Given the description of an element on the screen output the (x, y) to click on. 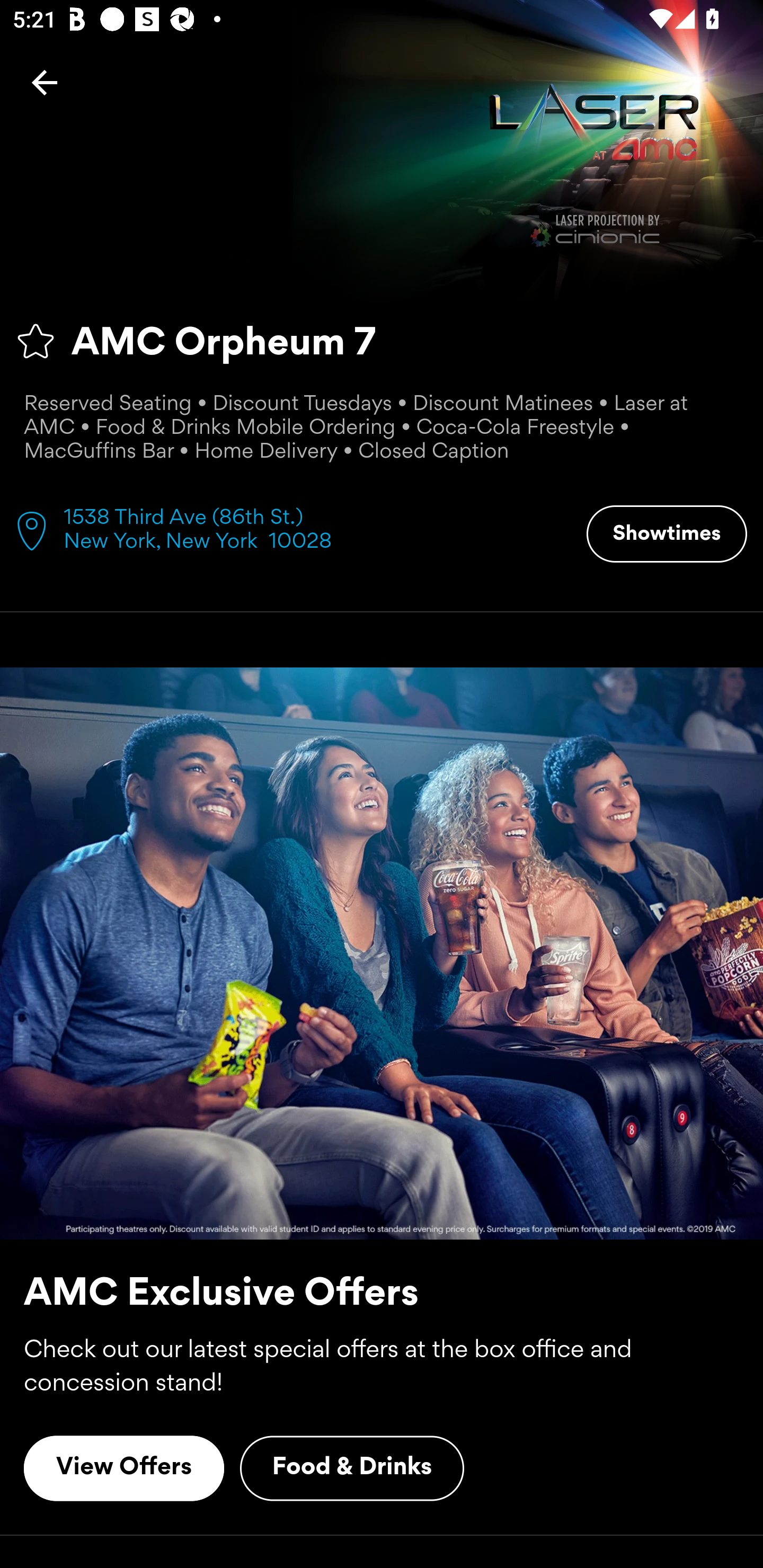
Back (44, 82)
AMC Orpheum 7 (381, 340)
Showtimes (666, 533)
View Offers (123, 1468)
Food & Drinks (351, 1468)
